Given the description of an element on the screen output the (x, y) to click on. 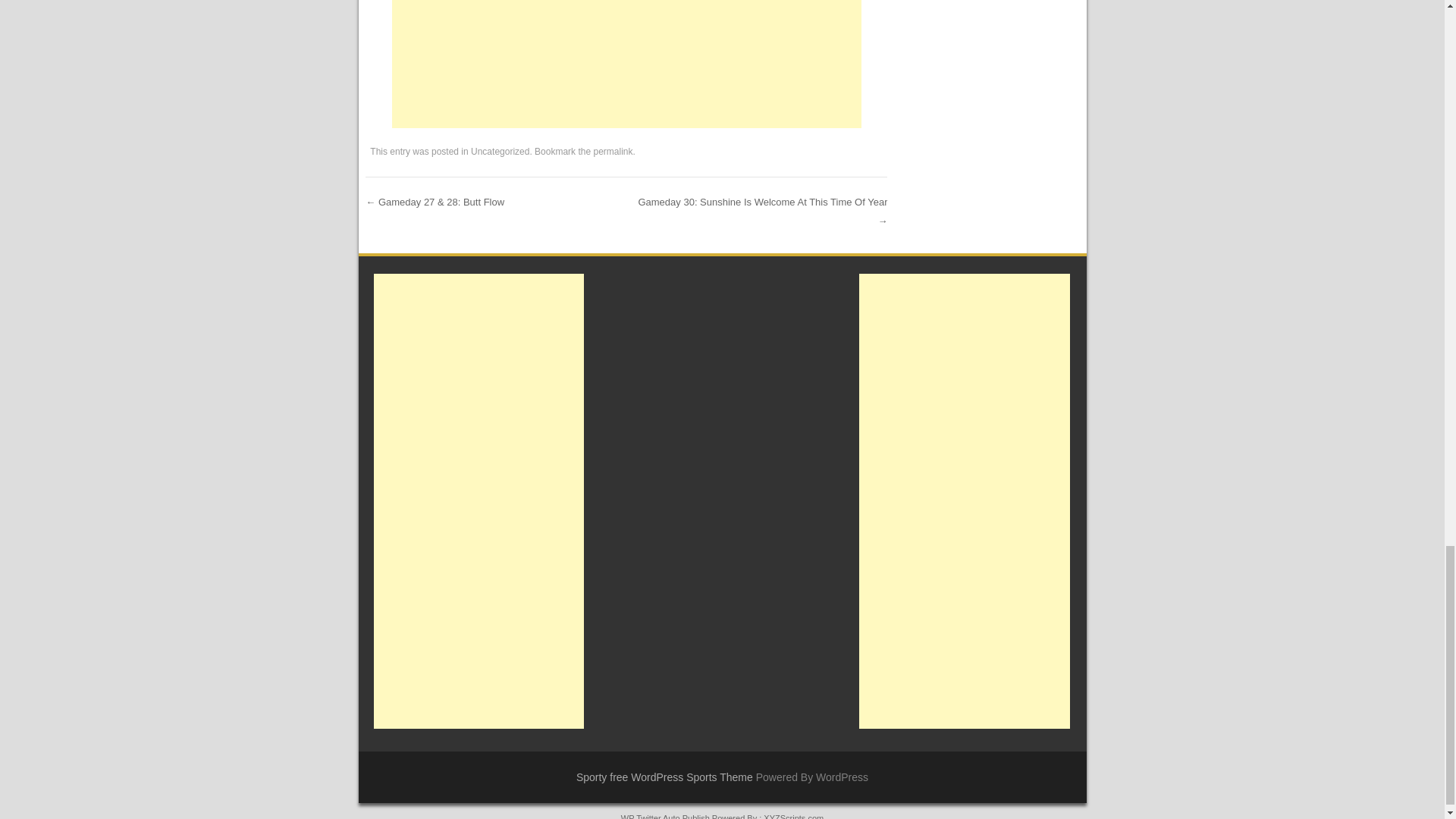
Uncategorized (499, 151)
permalink (611, 151)
Sporty free WordPress Sports Theme (664, 776)
